Given the description of an element on the screen output the (x, y) to click on. 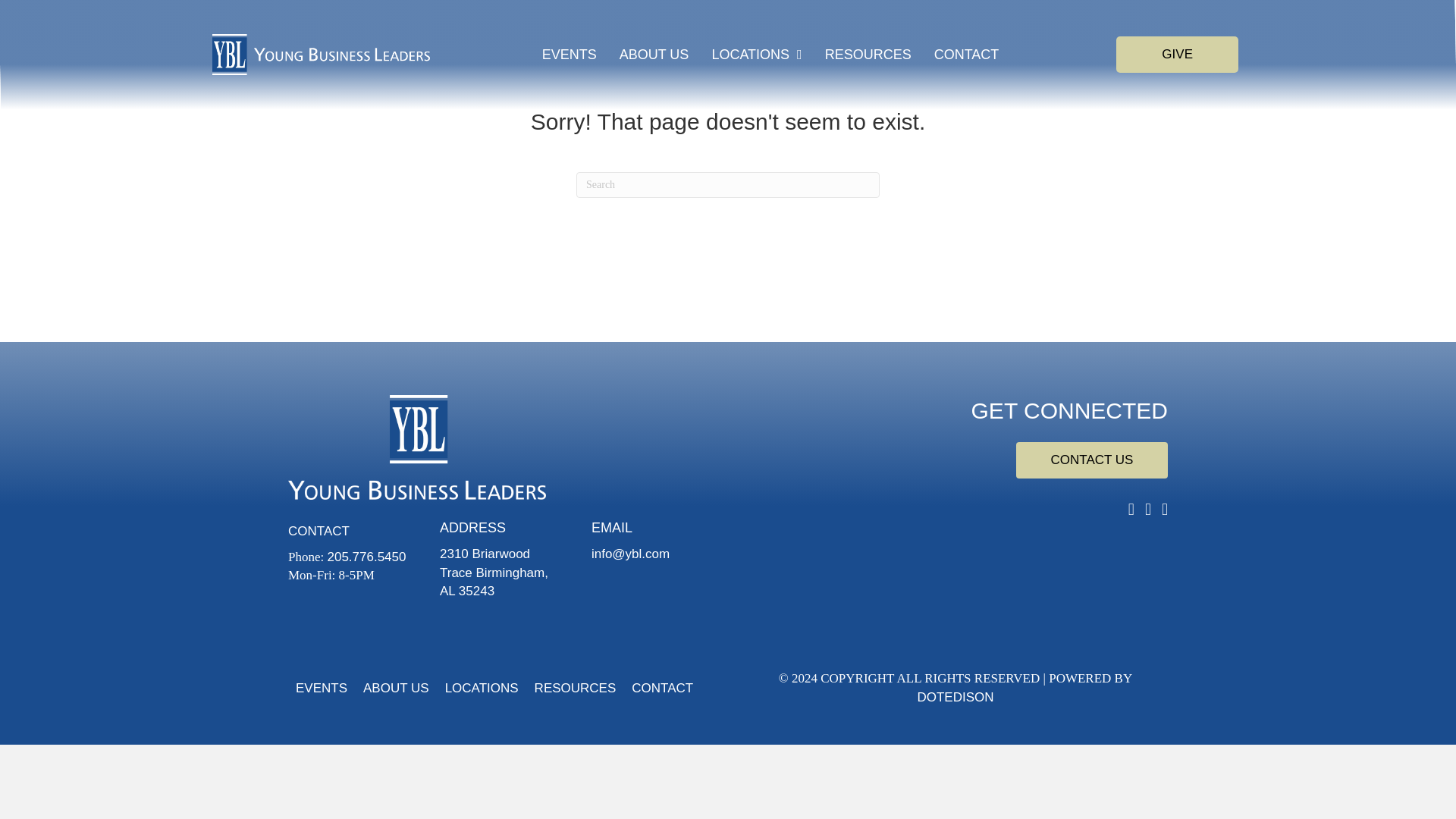
Type and press Enter to search. (727, 184)
LOCATIONS (756, 54)
RESOURCES (867, 54)
EVENTS (569, 54)
GIVE (1177, 54)
ABOUT US (654, 54)
CONTACT (966, 54)
